Given the description of an element on the screen output the (x, y) to click on. 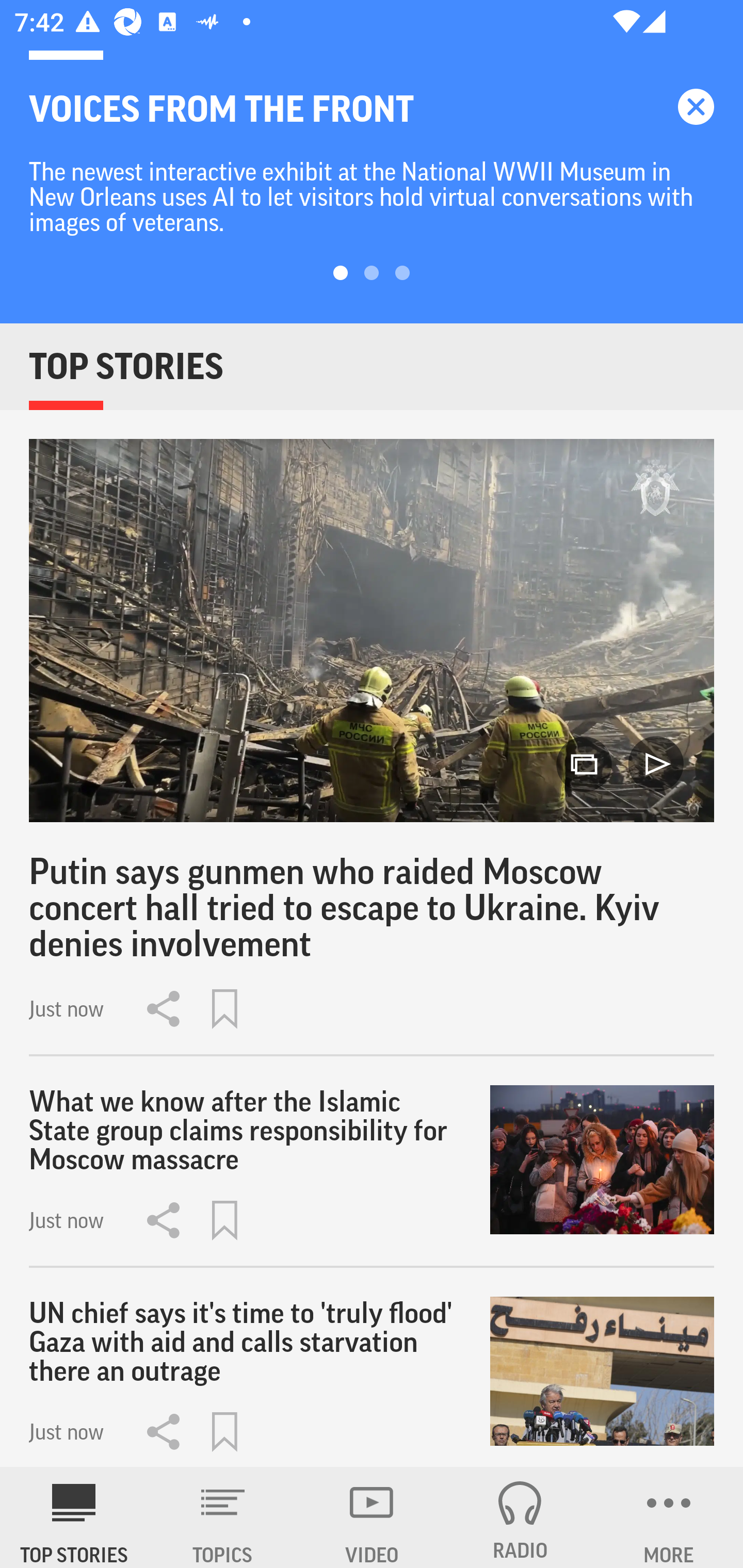
AP News TOP STORIES (74, 1517)
TOPICS (222, 1517)
VIDEO (371, 1517)
RADIO (519, 1517)
MORE (668, 1517)
